Given the description of an element on the screen output the (x, y) to click on. 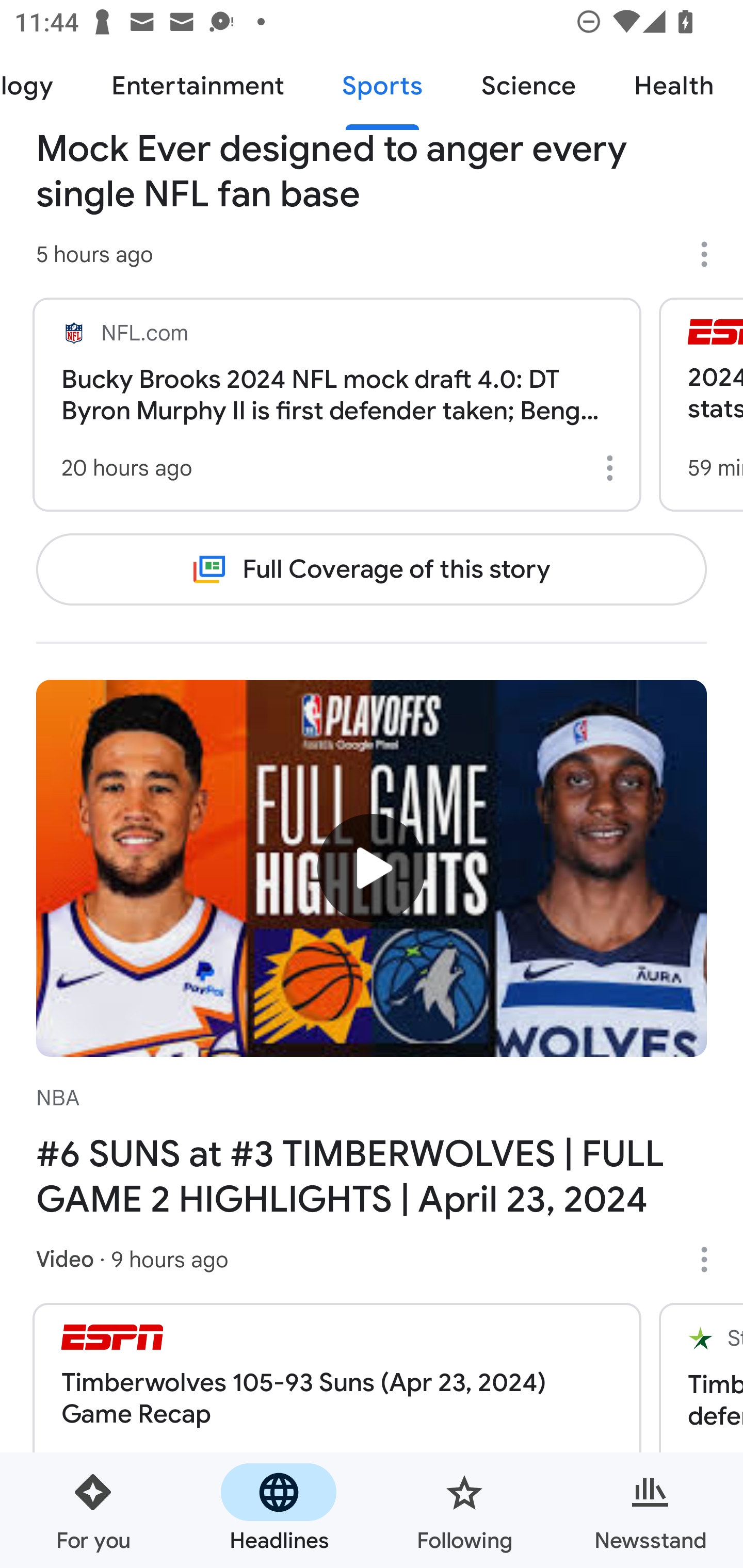
Technology (40, 86)
Entertainment (197, 86)
Science (527, 86)
Health (673, 86)
More options (711, 253)
More options (613, 467)
Full Coverage of this story (371, 569)
Play (371, 867)
More options (711, 1259)
For you (92, 1509)
Headlines (278, 1509)
Following (464, 1509)
Newsstand (650, 1509)
